Given the description of an element on the screen output the (x, y) to click on. 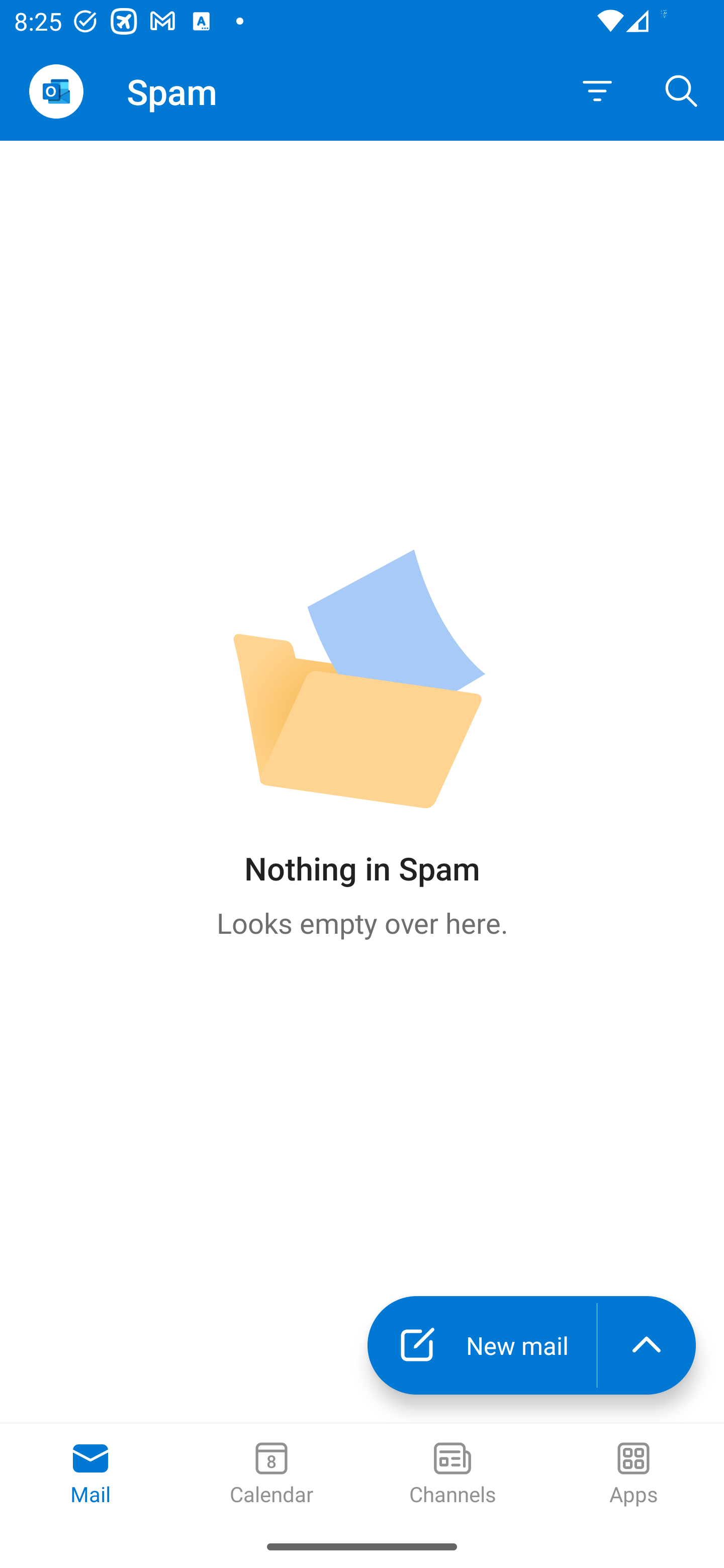
Search, ,  (681, 90)
Open Navigation Drawer (55, 91)
Filter (597, 91)
New mail (481, 1344)
launch the extended action menu (646, 1344)
Calendar (271, 1474)
Channels (452, 1474)
Apps (633, 1474)
